Given the description of an element on the screen output the (x, y) to click on. 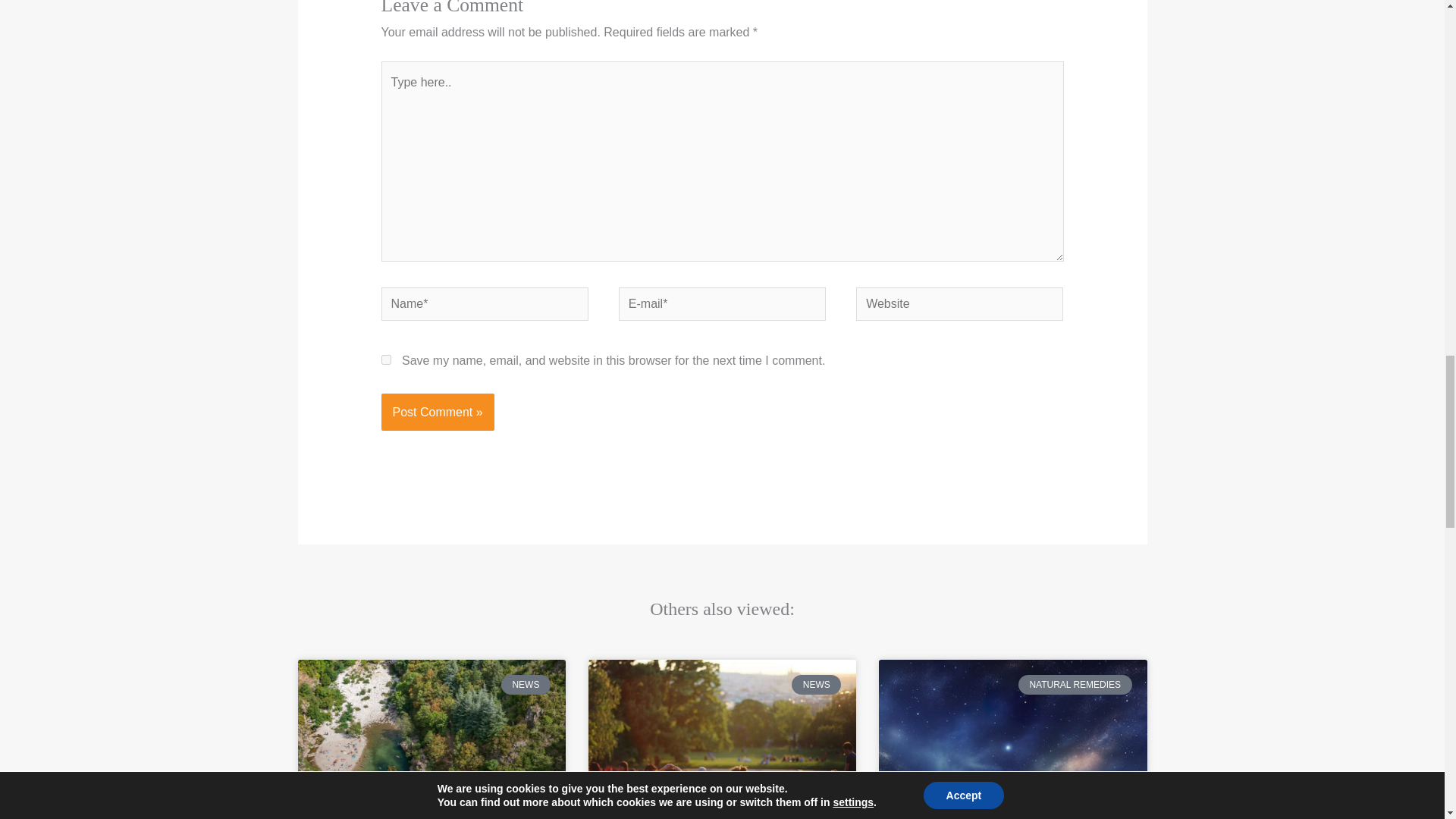
yes (385, 359)
